Given the description of an element on the screen output the (x, y) to click on. 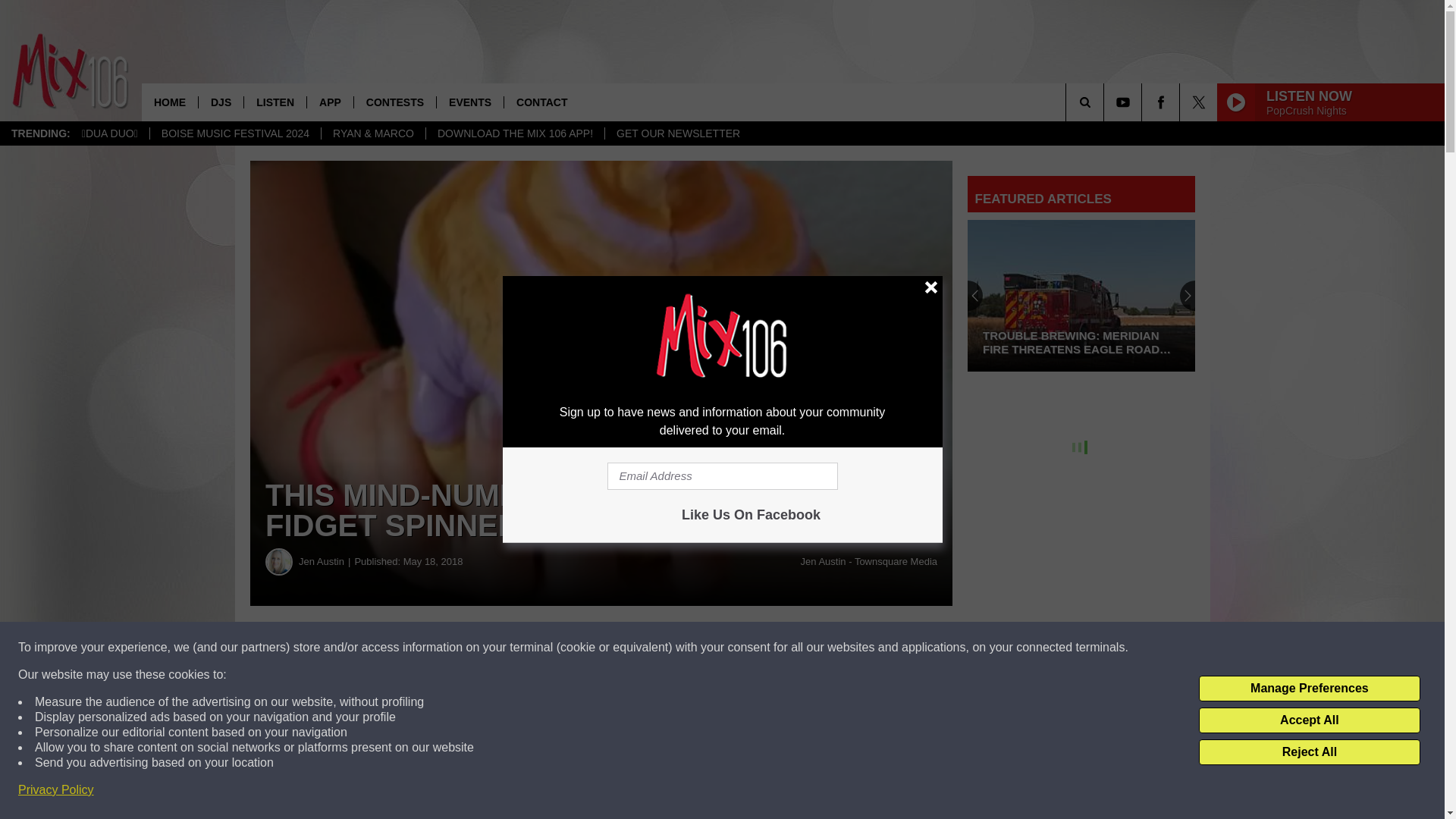
HOME (169, 102)
GET OUR NEWSLETTER (677, 133)
SEARCH (1106, 102)
Share on Facebook (460, 647)
Email Address (722, 475)
Share on Twitter (741, 647)
Manage Preferences (1309, 688)
Privacy Policy (55, 789)
SEARCH (1106, 102)
Accept All (1309, 720)
DOWNLOAD THE MIX 106 APP! (514, 133)
APP (329, 102)
BOISE MUSIC FESTIVAL 2024 (234, 133)
LISTEN (274, 102)
Reject All (1309, 751)
